Given the description of an element on the screen output the (x, y) to click on. 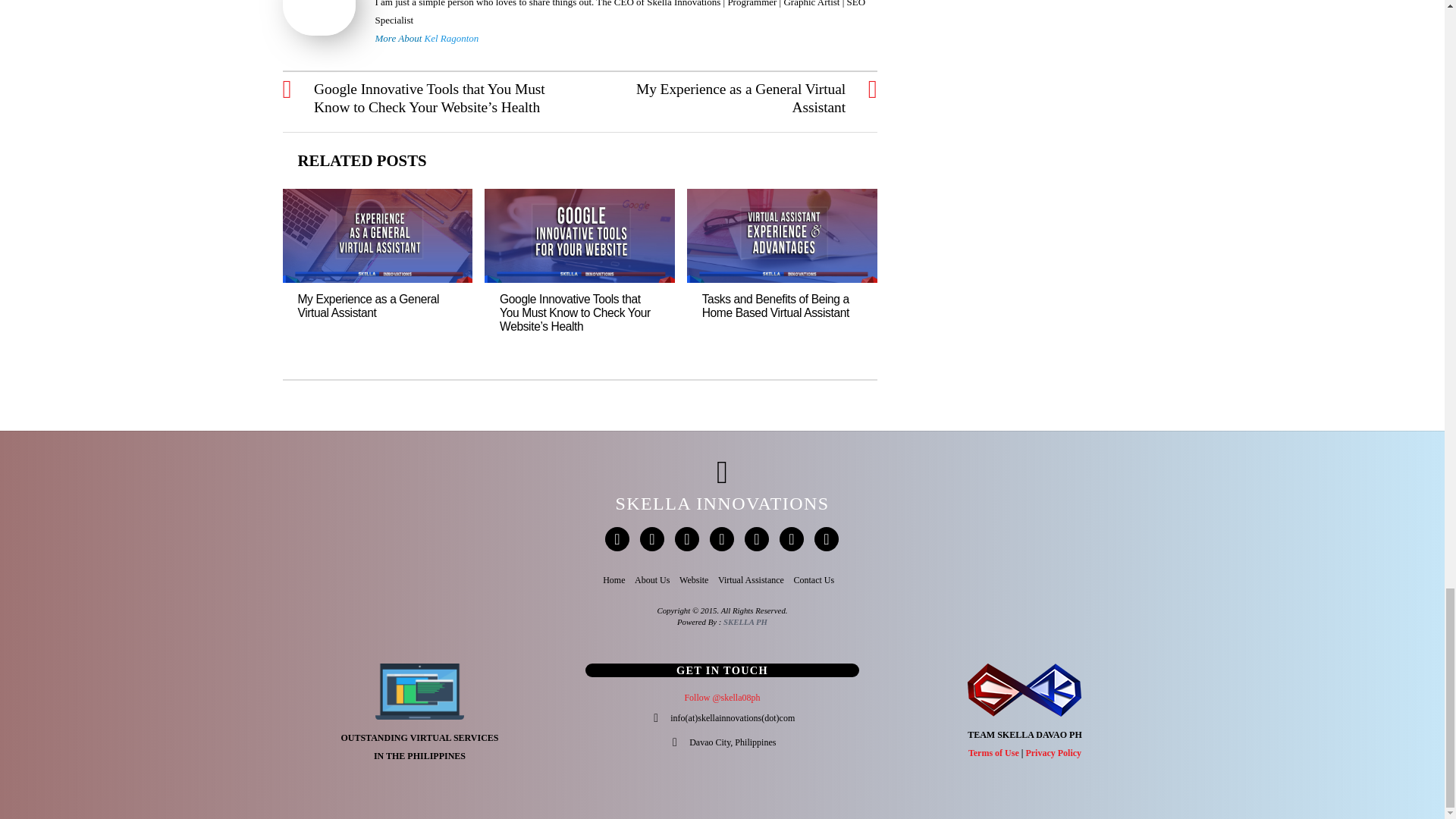
Skella Innovations (721, 503)
Kel Ragonton (452, 38)
My Experience as a General Virtual Assistant (720, 98)
Tasks and Benefits of Being a Home Based Virtual Assistant (774, 305)
My Experience as a General Virtual Assistant (368, 305)
